Given the description of an element on the screen output the (x, y) to click on. 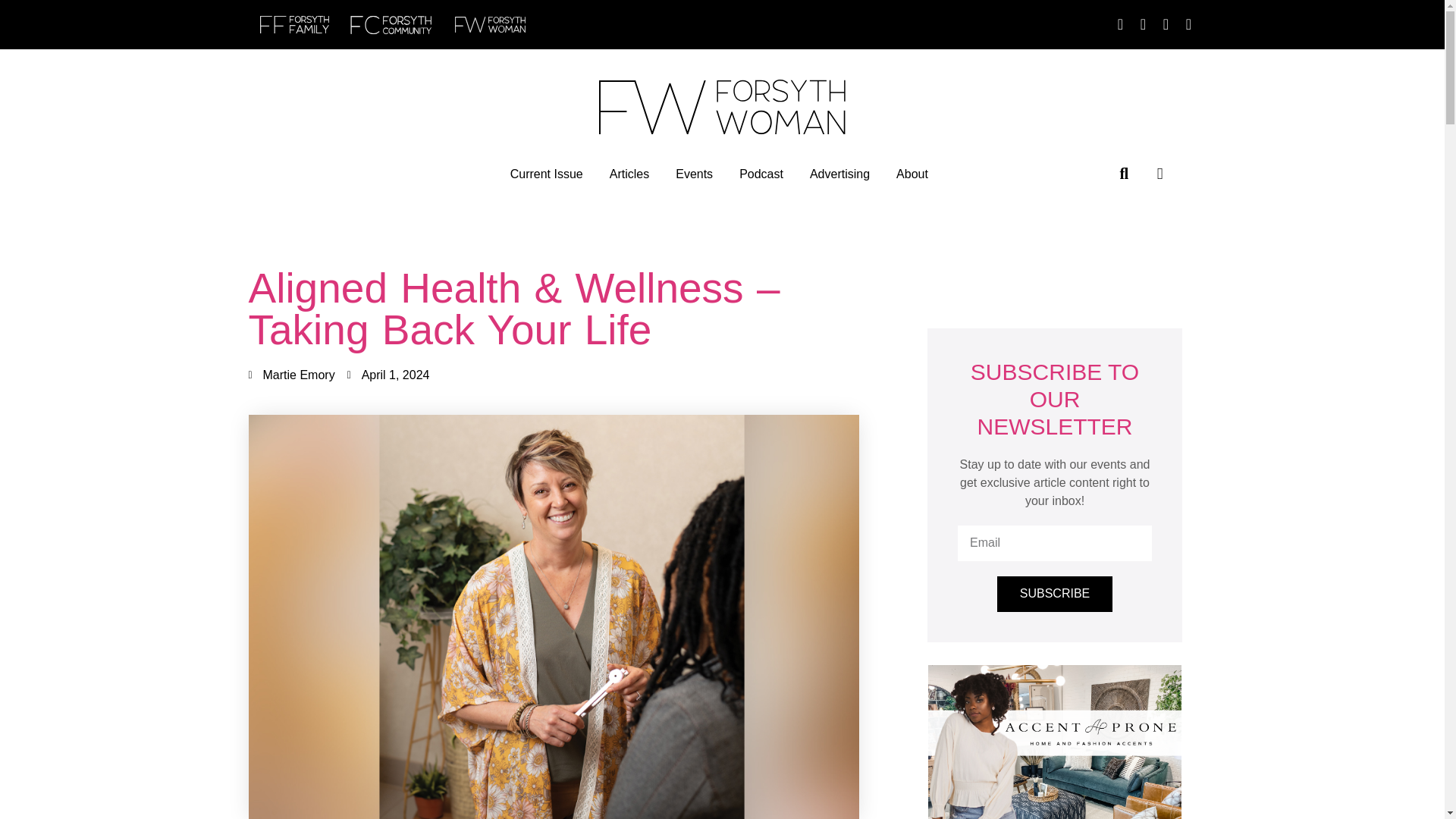
Current Issue (547, 174)
Advertising (839, 174)
Events (694, 174)
About (912, 174)
Podcast (761, 174)
Articles (629, 174)
